Given the description of an element on the screen output the (x, y) to click on. 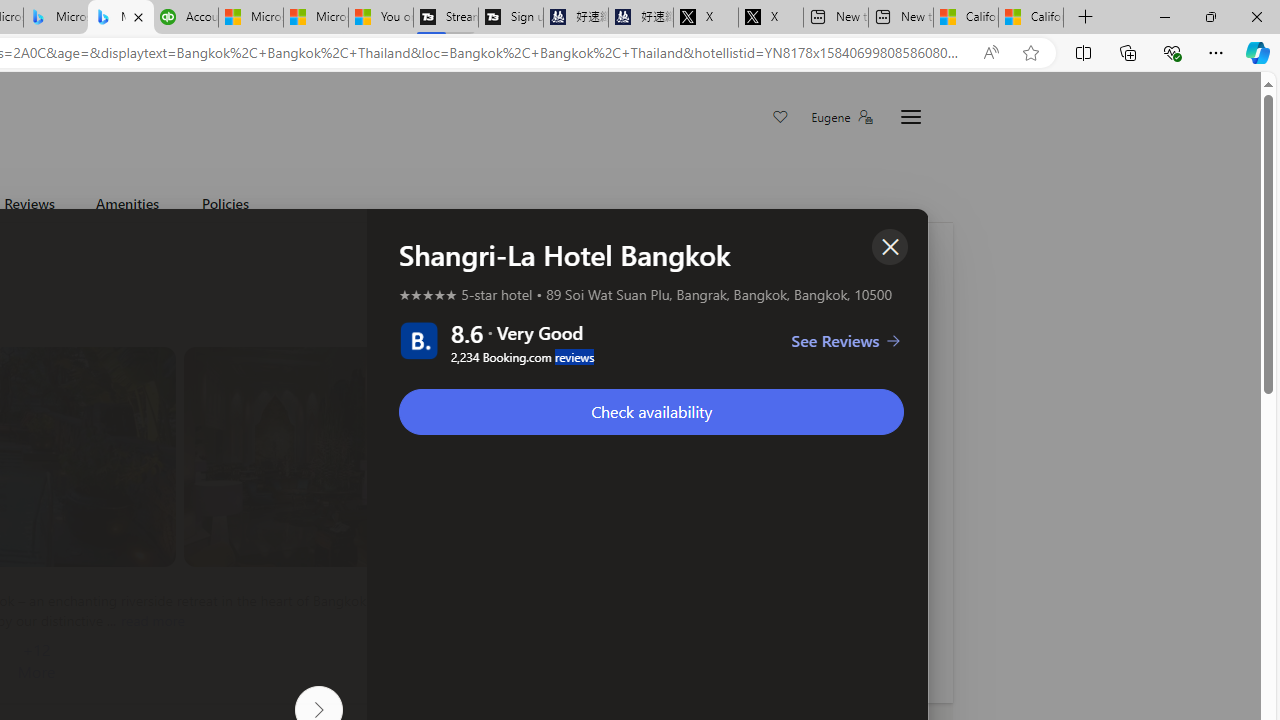
Microsoft Bing Travel - Shangri-La Hotel Bangkok (120, 17)
Streaming Coverage | T3 (445, 17)
Microsoft Start (316, 17)
Accounting Software for Accountants, CPAs and Bookkeepers (185, 17)
Microsoft Start Sports (250, 17)
